Given the description of an element on the screen output the (x, y) to click on. 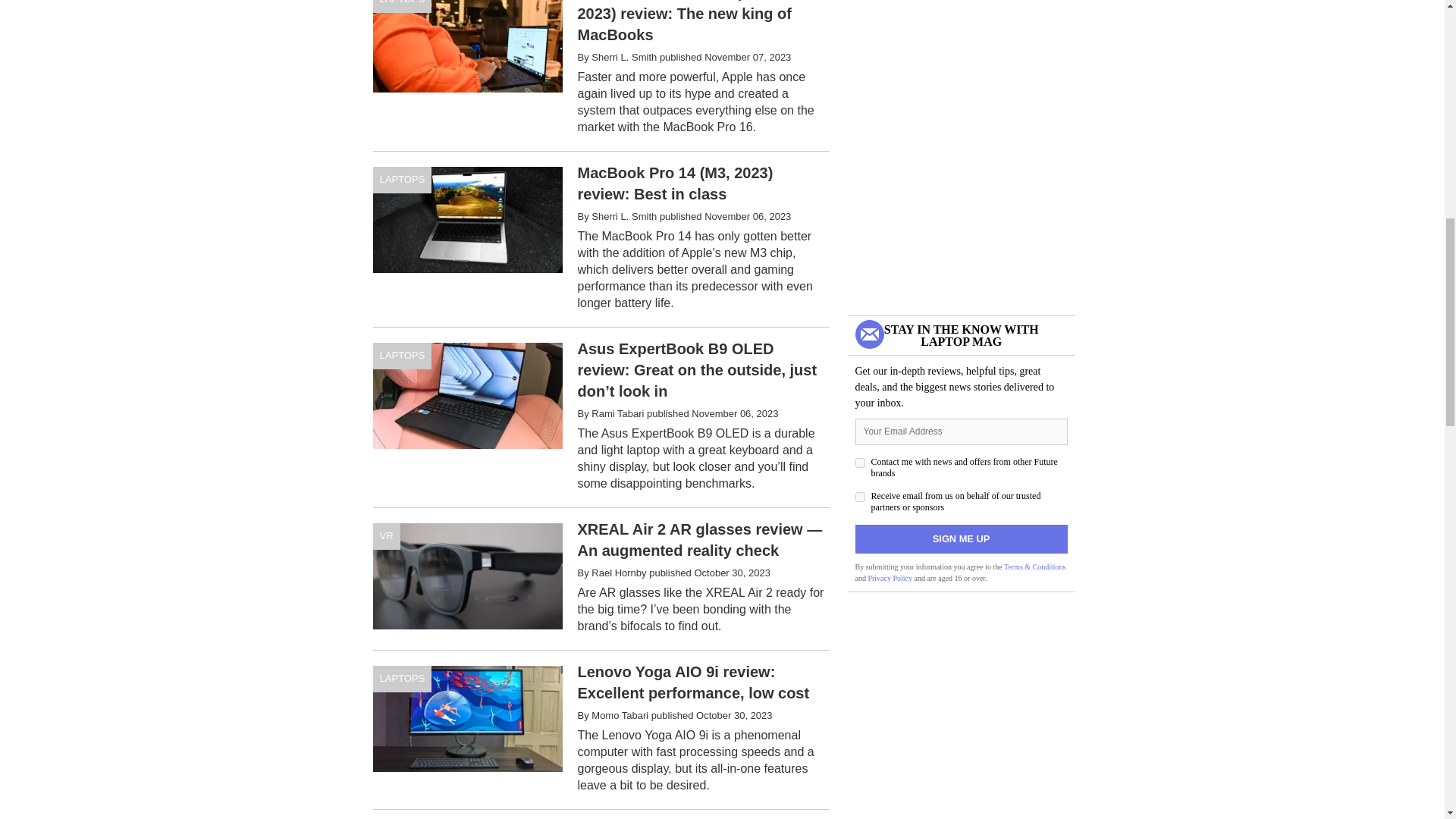
on (860, 497)
on (860, 462)
Sign me up (961, 538)
